Given the description of an element on the screen output the (x, y) to click on. 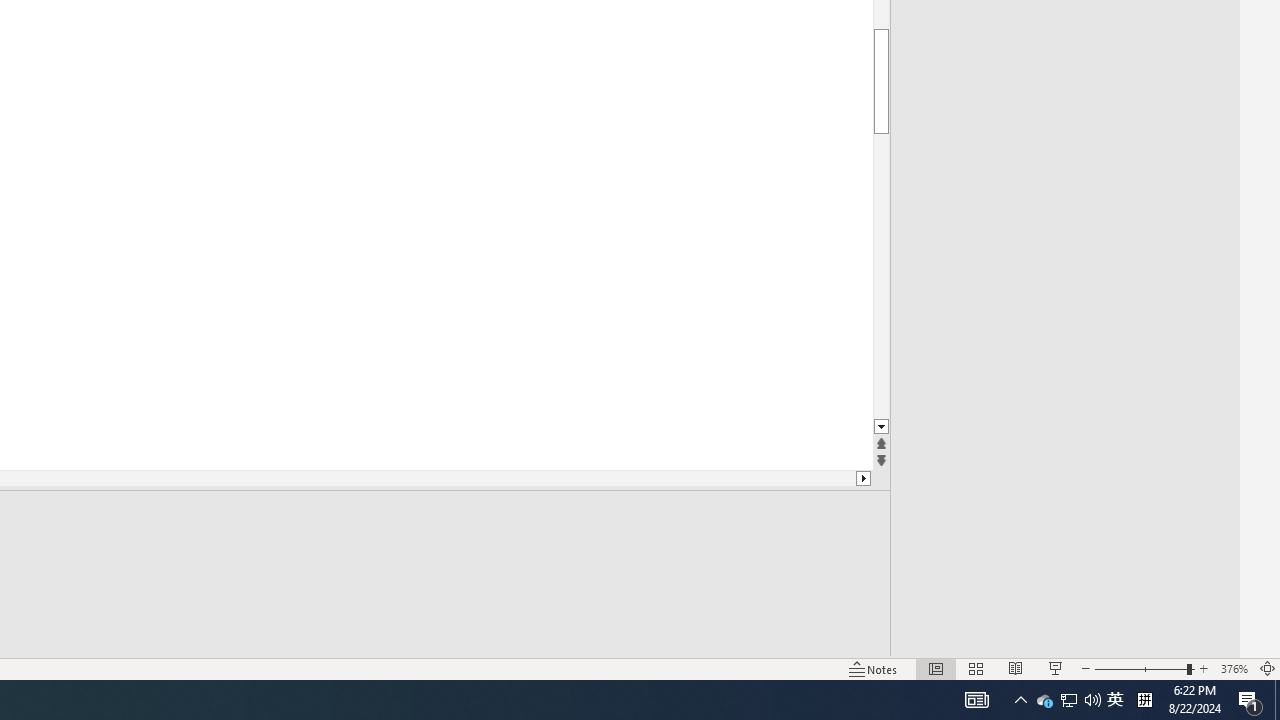
Zoom 376% (1234, 668)
